Given the description of an element on the screen output the (x, y) to click on. 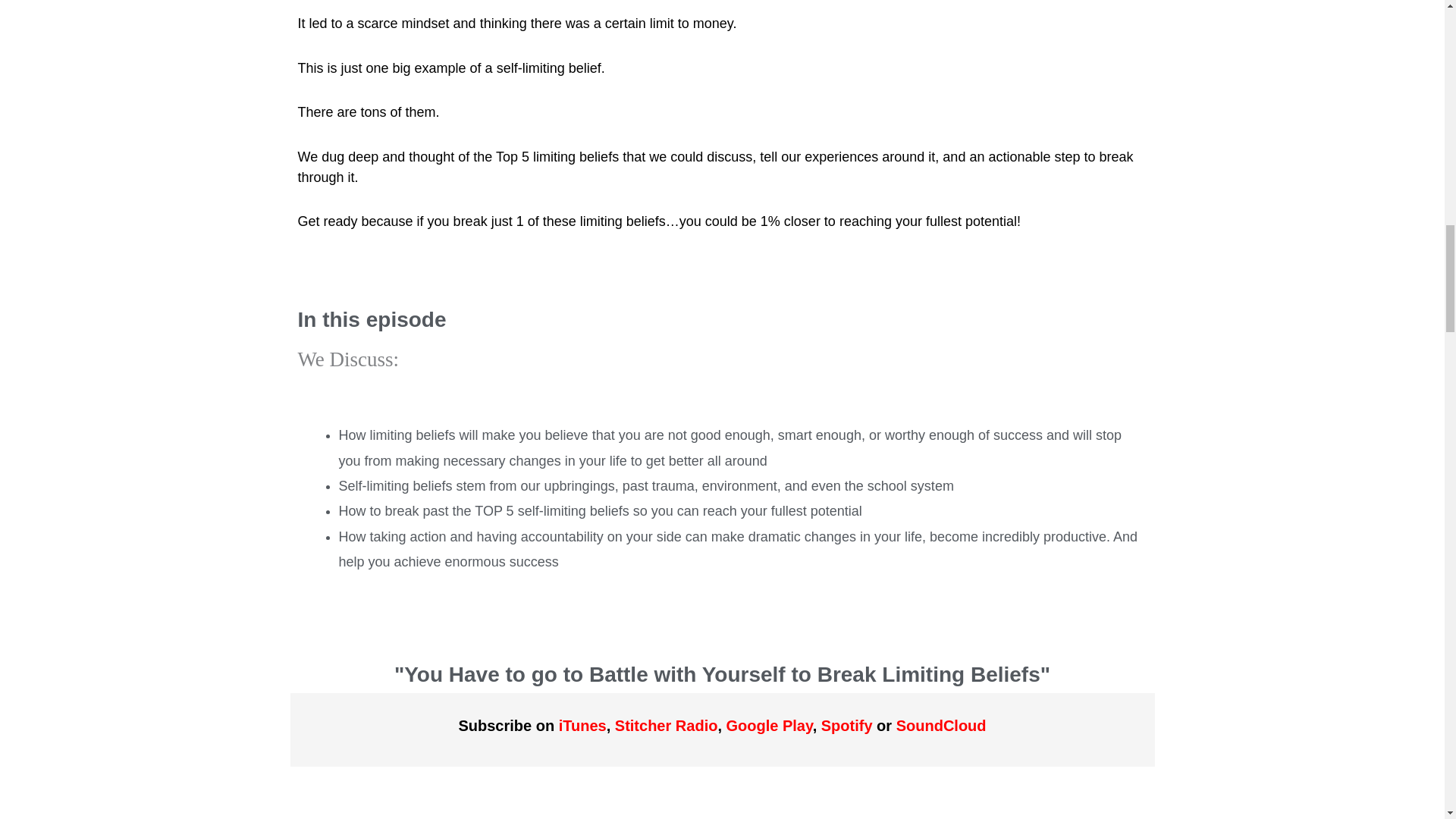
Spotify (846, 725)
iTunes (583, 725)
Google Play (769, 725)
SoundCloud (941, 725)
Stitcher Radio (665, 725)
